Given the description of an element on the screen output the (x, y) to click on. 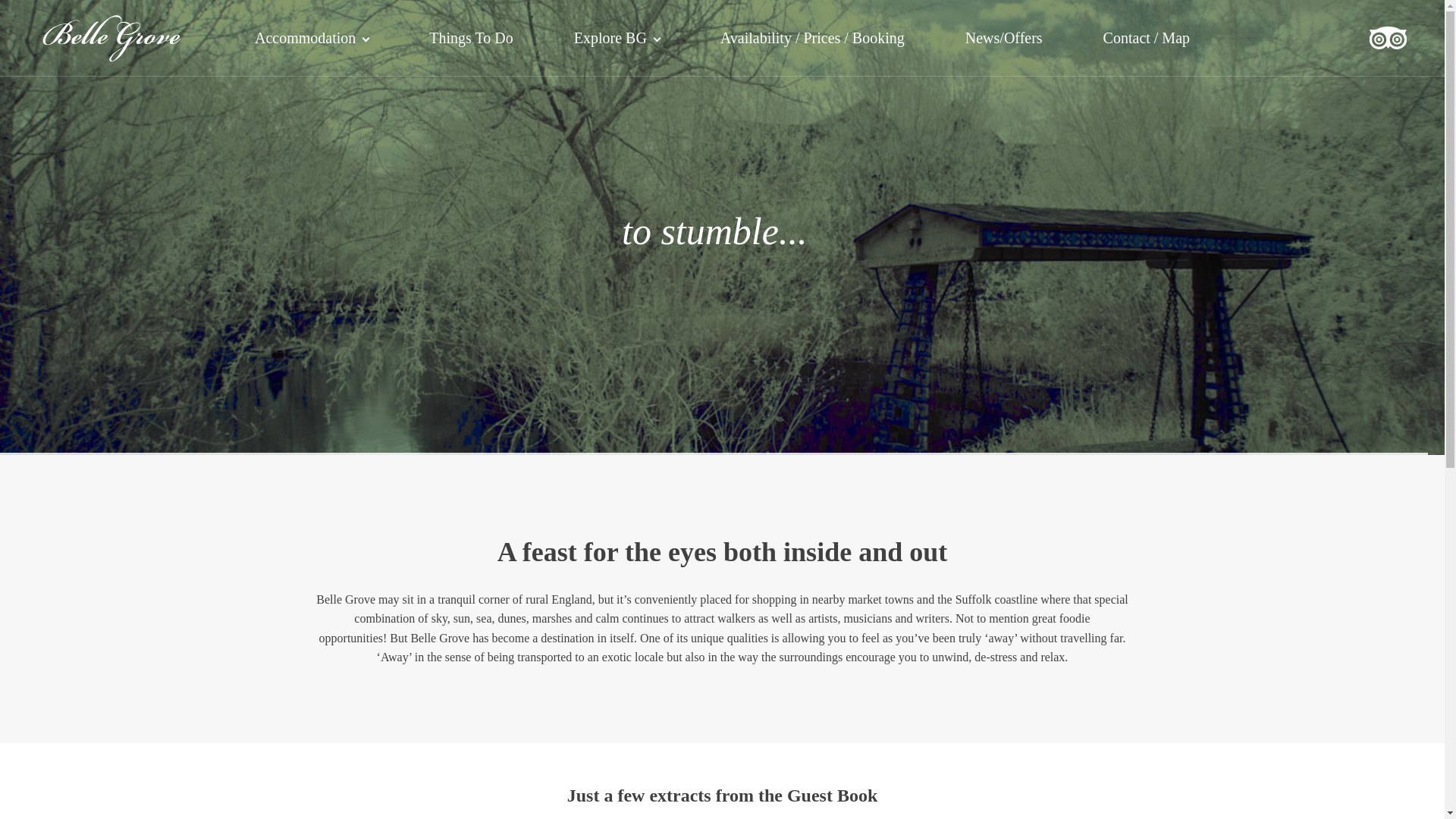
Explore BG (616, 40)
Things To Do (470, 40)
Accommodation (311, 40)
